Given the description of an element on the screen output the (x, y) to click on. 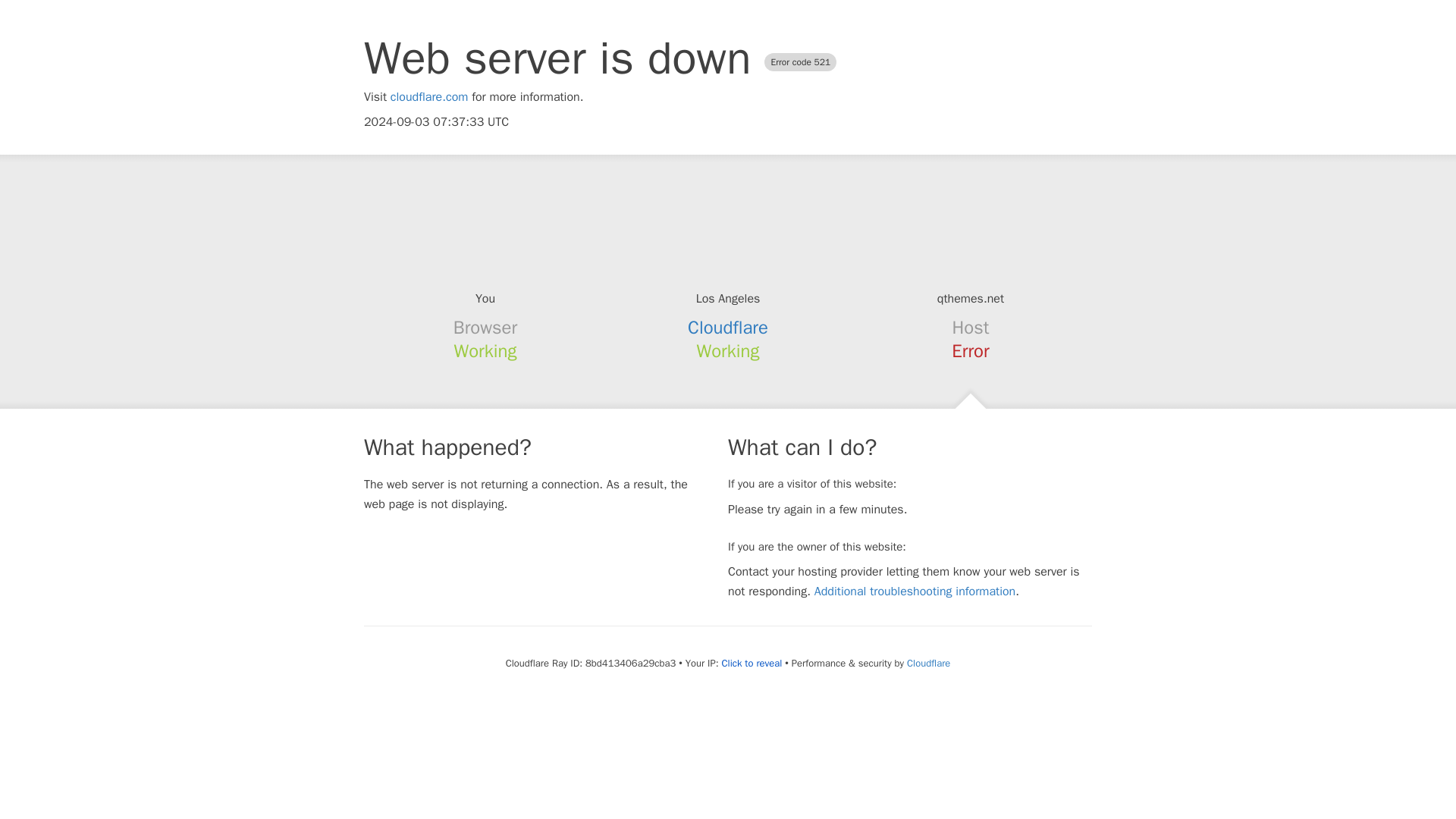
Cloudflare (928, 662)
Additional troubleshooting information (913, 590)
Cloudflare (727, 327)
cloudflare.com (429, 96)
Click to reveal (750, 663)
